Given the description of an element on the screen output the (x, y) to click on. 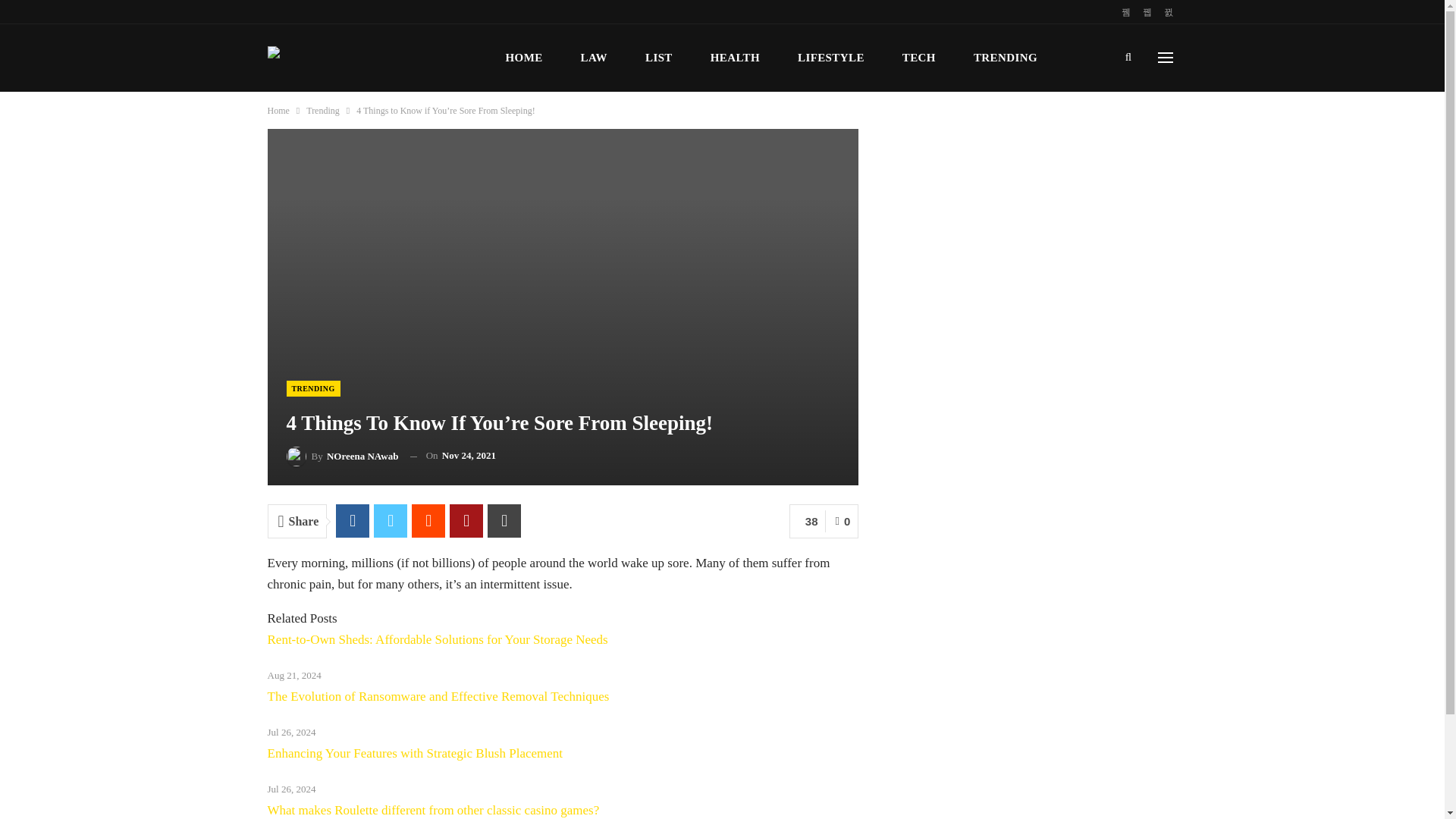
LIFESTYLE (830, 57)
By NOreena NAwab (342, 455)
HEALTH (734, 57)
Enhancing Your Features with Strategic Blush Placement (414, 753)
TRENDING (1005, 57)
Home (277, 110)
Browse Author Articles (342, 455)
The Evolution of Ransomware and Effective Removal Techniques (437, 696)
